Given the description of an element on the screen output the (x, y) to click on. 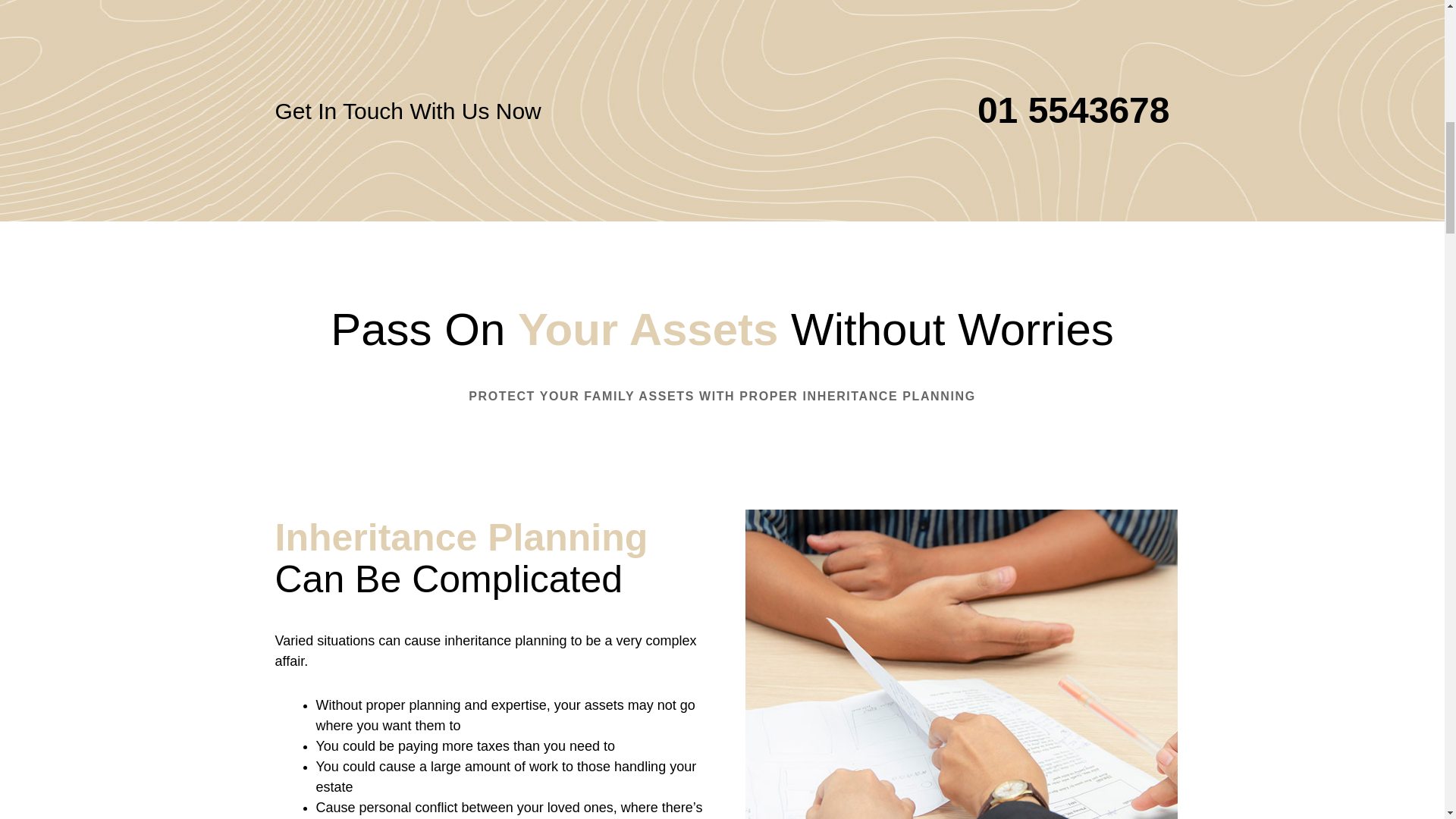
01 5543678 (1073, 110)
